Given the description of an element on the screen output the (x, y) to click on. 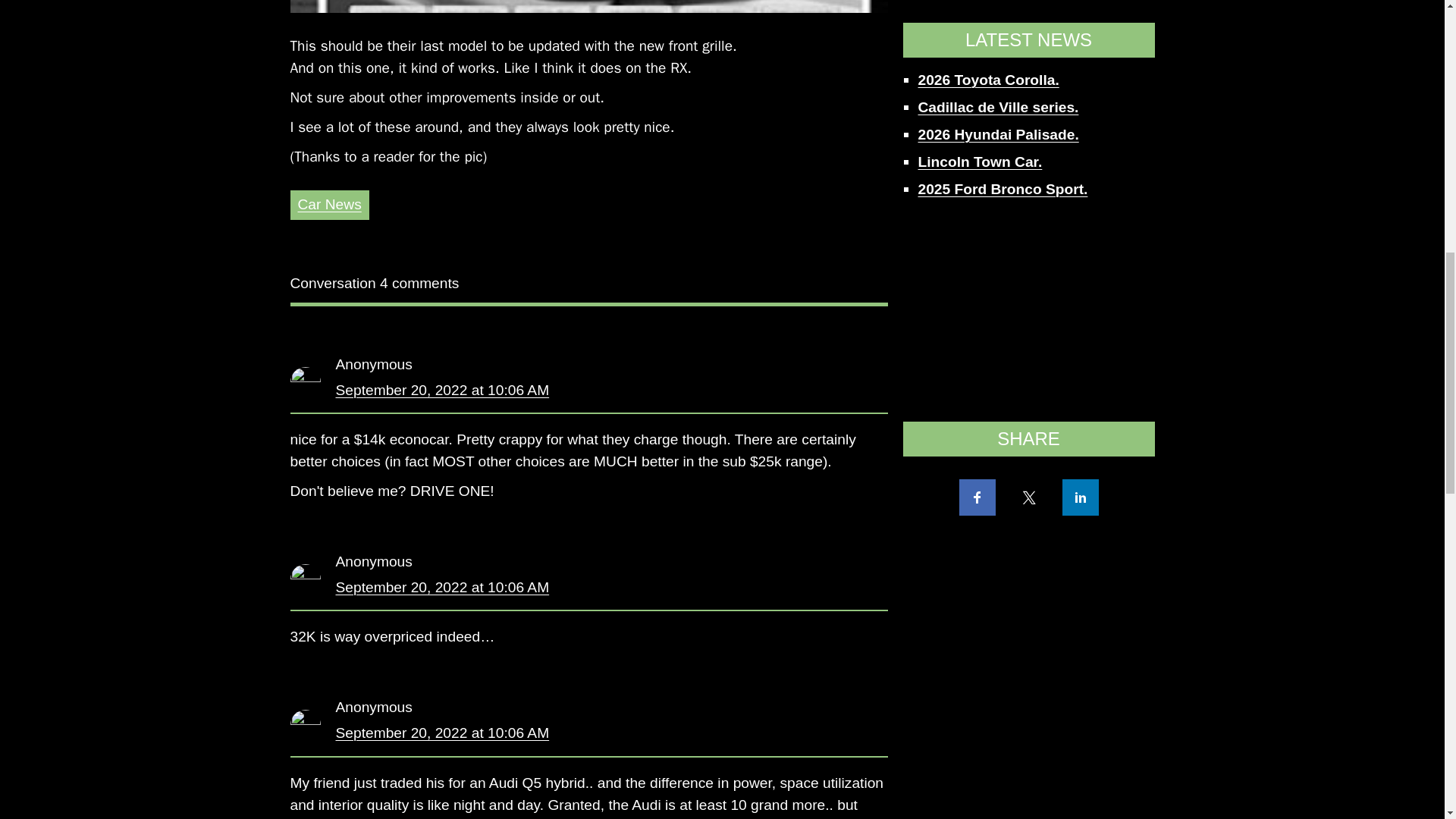
Car News (329, 204)
September 20, 2022 at 10:06 AM (441, 390)
September 20, 2022 at 10:06 AM (441, 732)
Advertisement (1028, 14)
September 20, 2022 at 10:06 AM (441, 587)
